Given the description of an element on the screen output the (x, y) to click on. 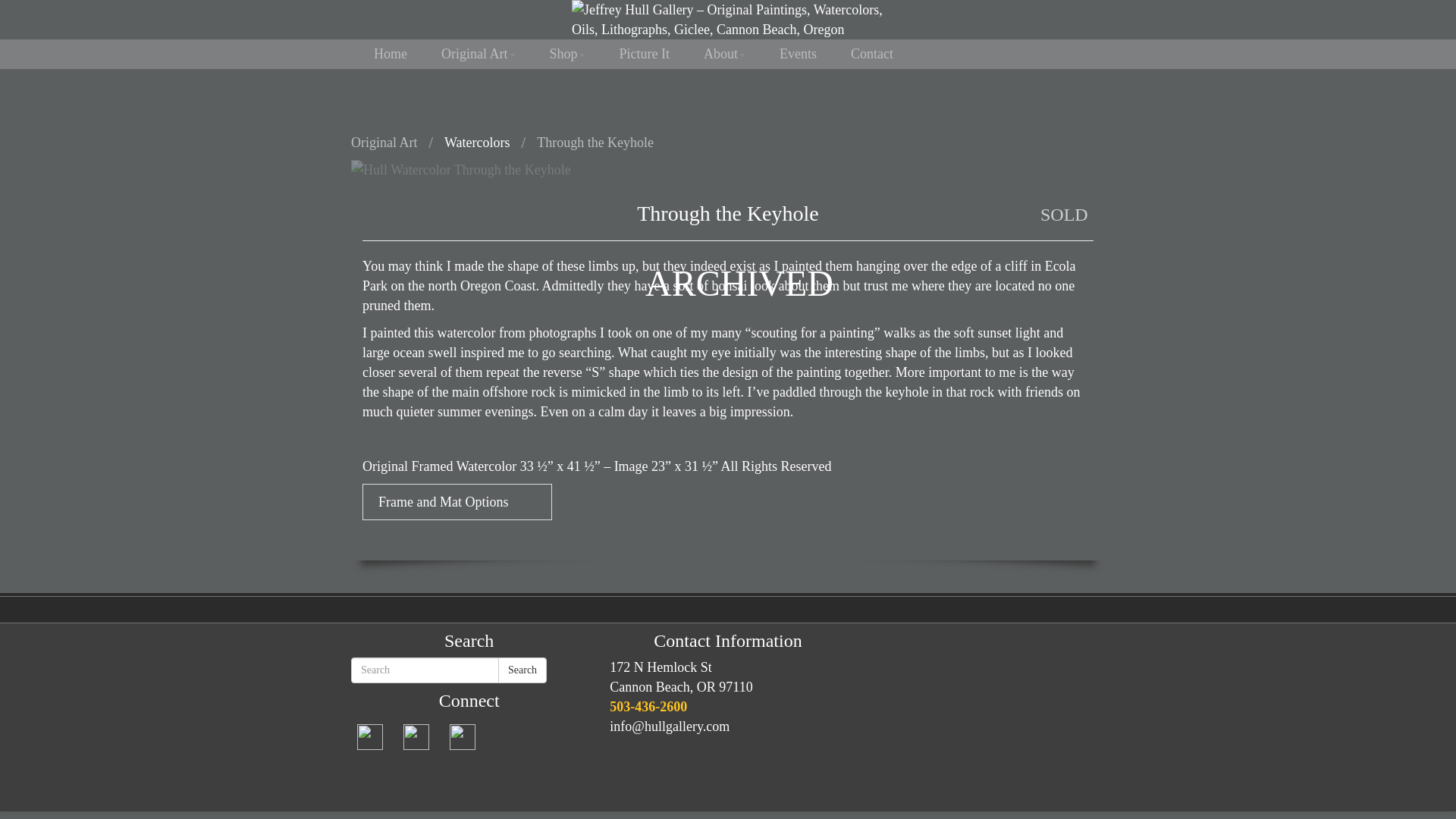
Shop (567, 53)
About (725, 53)
Frame and Mat Options (457, 501)
Events (798, 53)
Picture It (681, 677)
Contact Information (644, 53)
Contact (727, 640)
Watercolors (872, 53)
Original Art (477, 142)
